Given the description of an element on the screen output the (x, y) to click on. 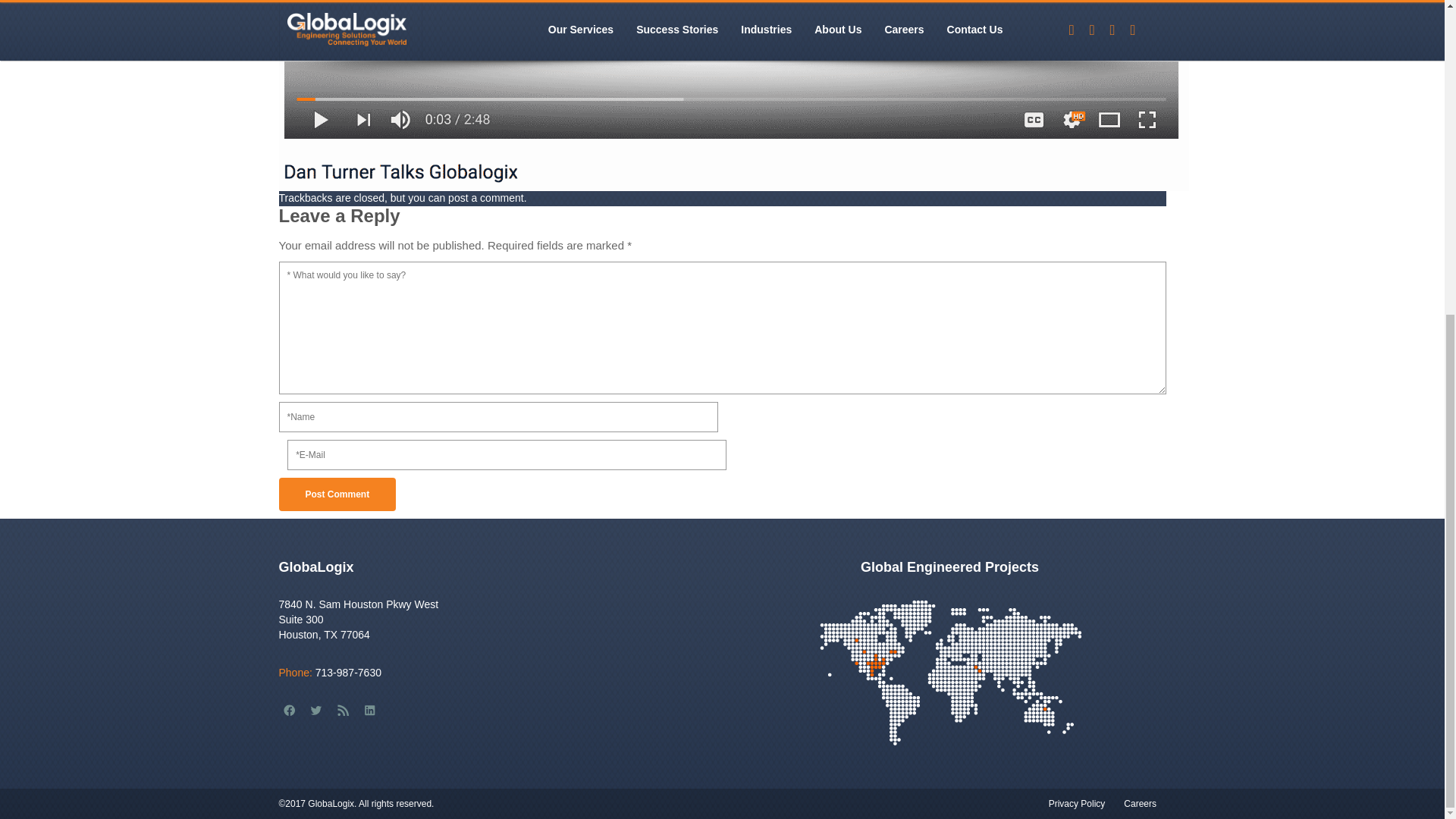
Post a comment (486, 197)
Post Comment (337, 494)
